Given the description of an element on the screen output the (x, y) to click on. 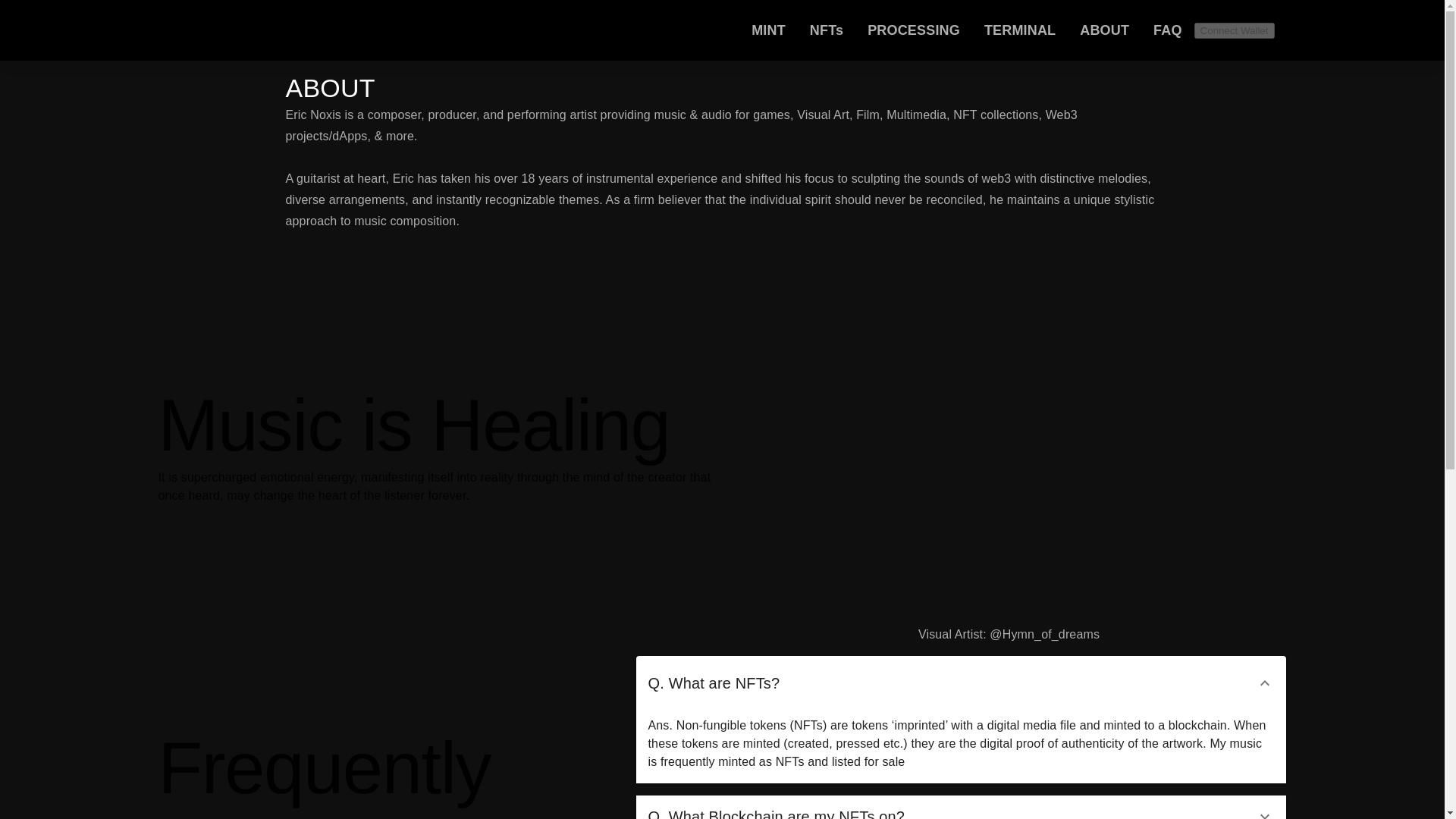
PROCESSING (913, 29)
TERMINAL (1019, 29)
Connect Wallet (1234, 30)
ABOUT (1104, 29)
MINT (768, 29)
FAQ (1167, 29)
NFTs (826, 29)
